Given the description of an element on the screen output the (x, y) to click on. 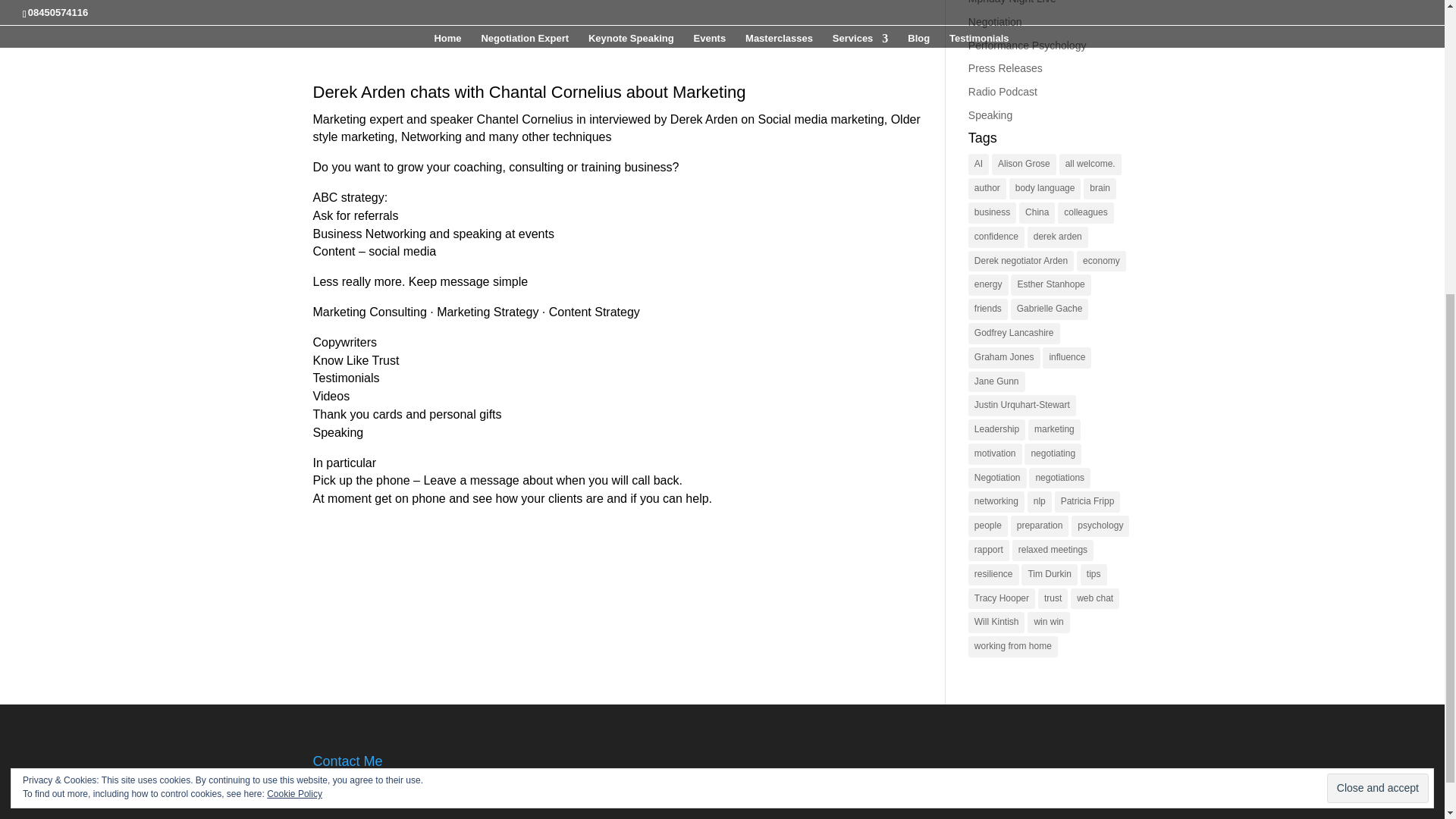
Close and accept (1377, 313)
Mpnday Night Live (1012, 2)
Press Releases (1005, 68)
Performance Psychology (1027, 45)
Negotiation (995, 21)
